Given the description of an element on the screen output the (x, y) to click on. 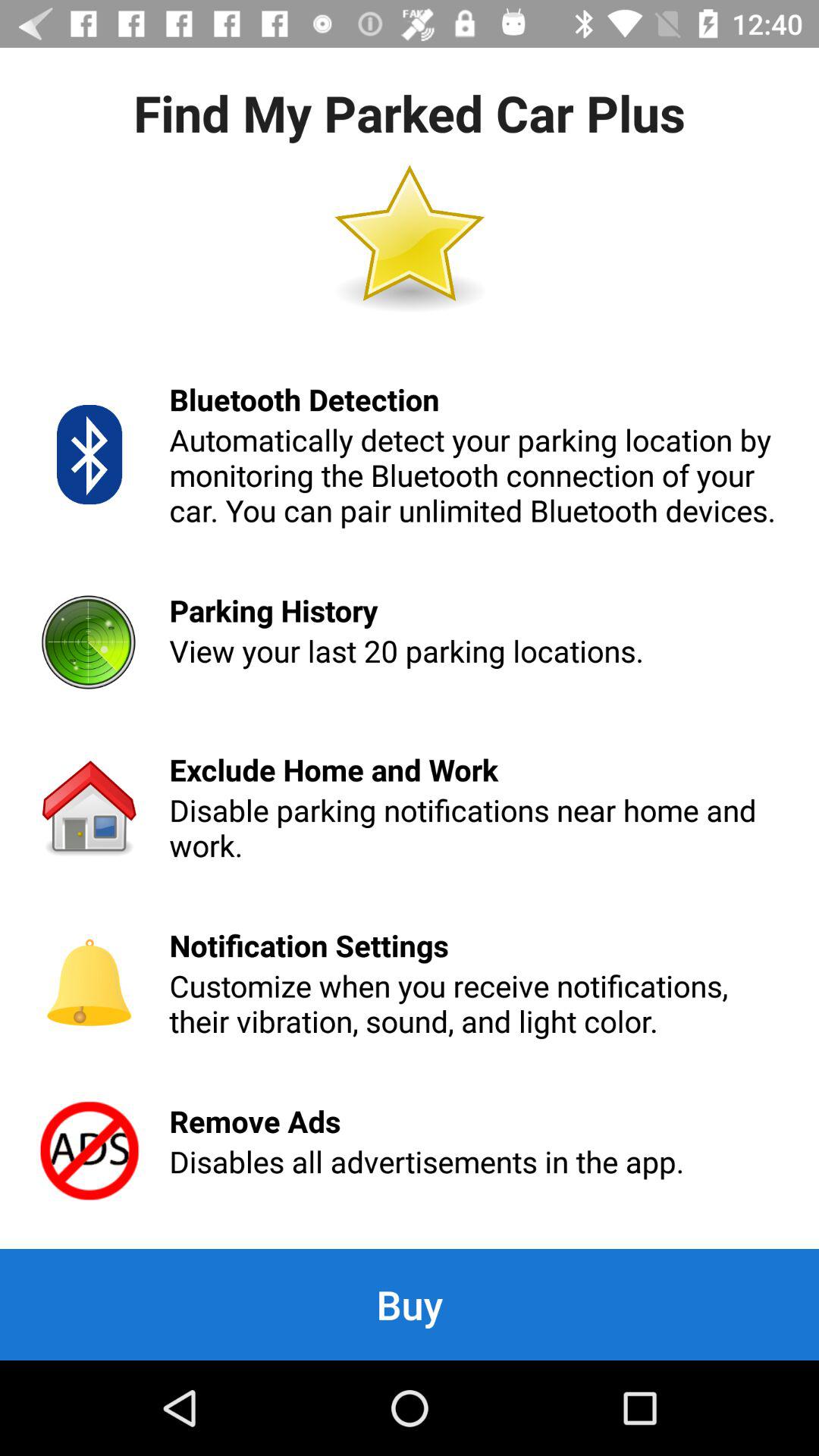
press the buy item (409, 1304)
